Given the description of an element on the screen output the (x, y) to click on. 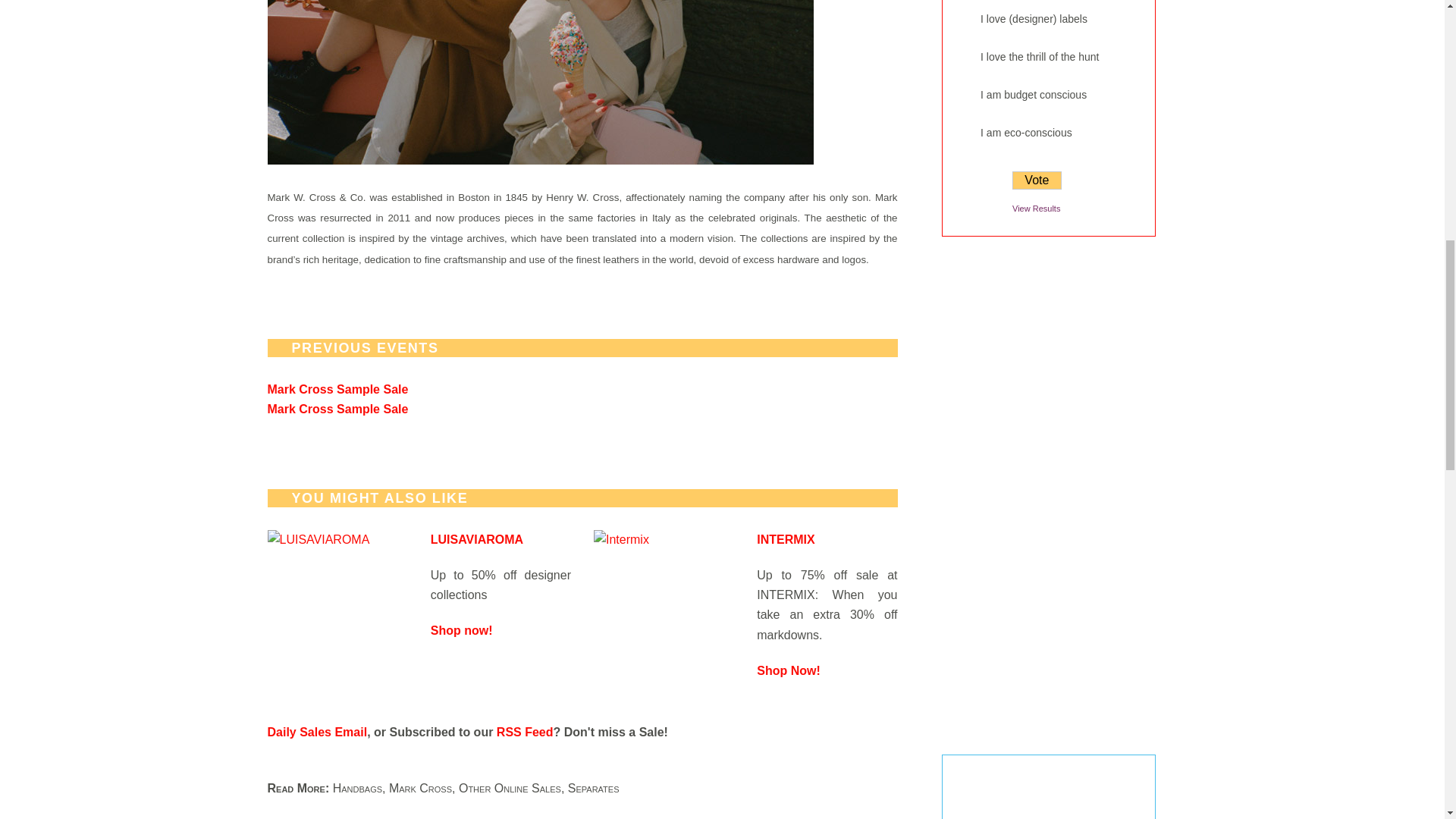
Mark Cross Sample Sale (336, 408)
227 (966, 57)
Mark Cross Sample Sale (336, 389)
View Results Of This Poll (1035, 207)
226 (966, 19)
About Mark Cross (539, 82)
   Vote    (1036, 180)
229 (966, 133)
228 (966, 95)
